Given the description of an element on the screen output the (x, y) to click on. 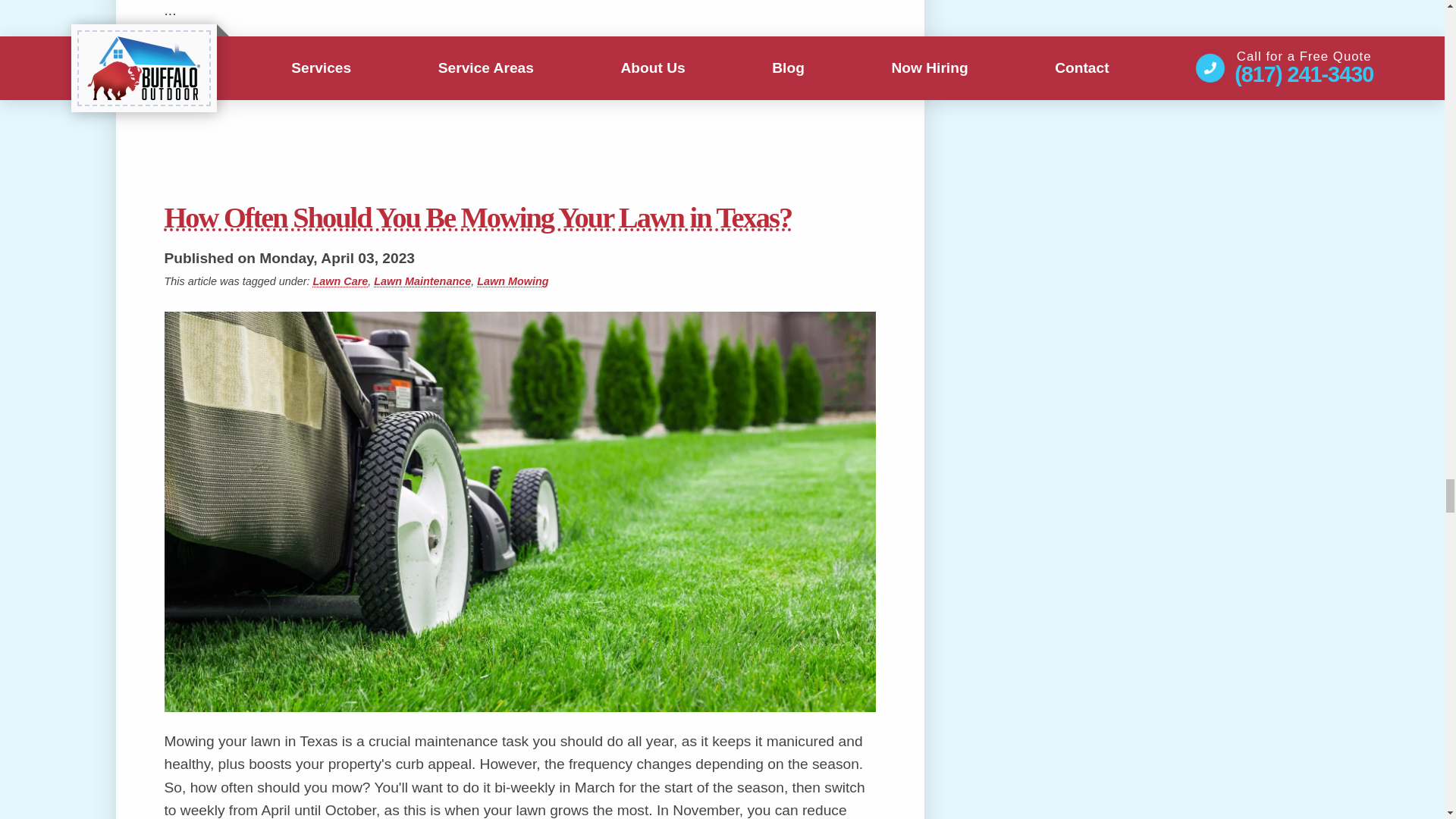
How Often Should You Be Mowing Your Lawn in Texas? (519, 217)
